Given the description of an element on the screen output the (x, y) to click on. 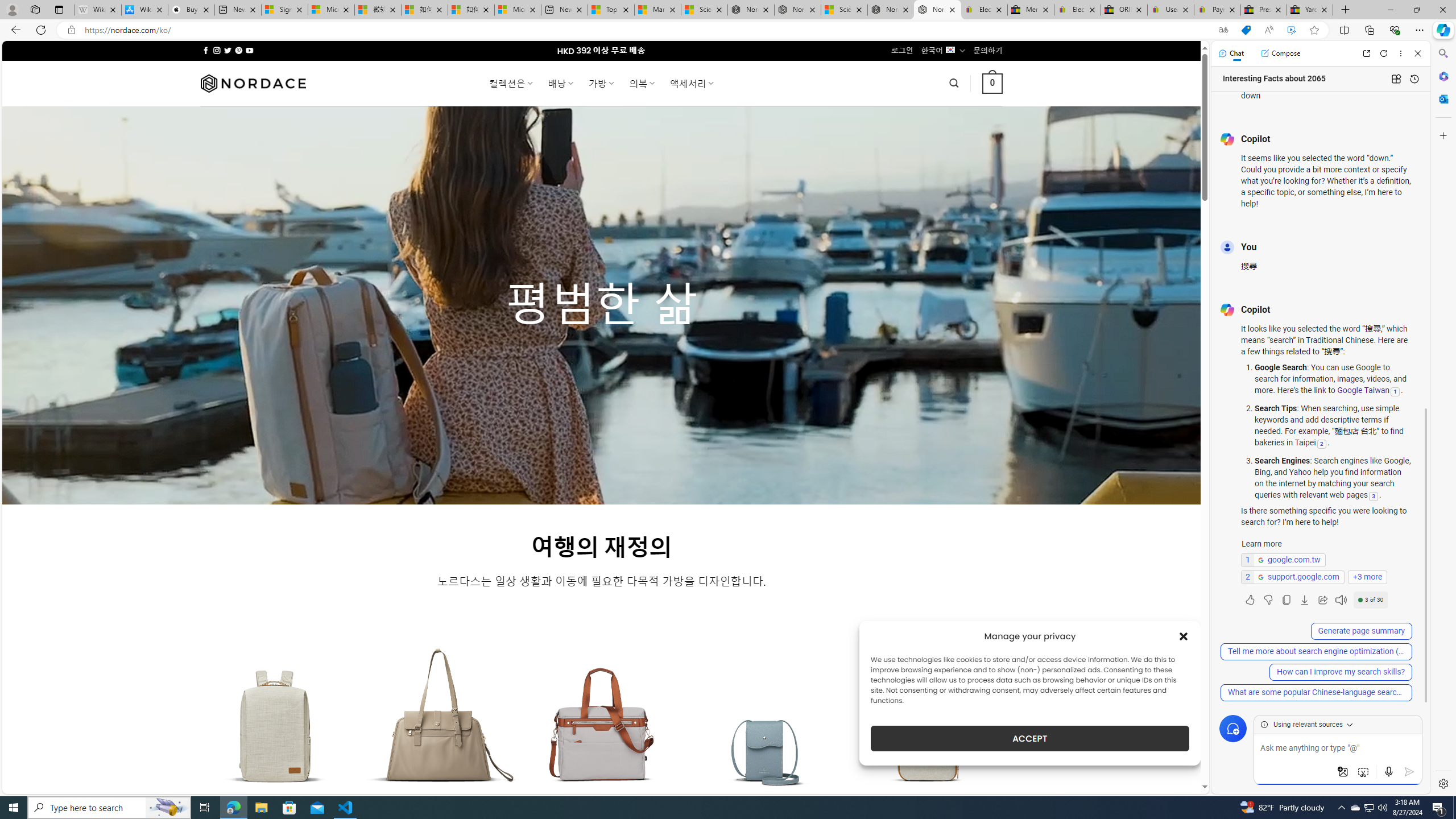
Split screen (1344, 29)
Press Room - eBay Inc. (1263, 9)
Side bar (1443, 418)
Electronics, Cars, Fashion, Collectibles & More | eBay (1077, 9)
Personal Profile (12, 9)
Back (13, 29)
Search (1442, 53)
Payments Terms of Use | eBay.com (1216, 9)
Microsoft 365 (1442, 76)
Enhance video (1291, 29)
Show translate options (1222, 29)
